Given the description of an element on the screen output the (x, y) to click on. 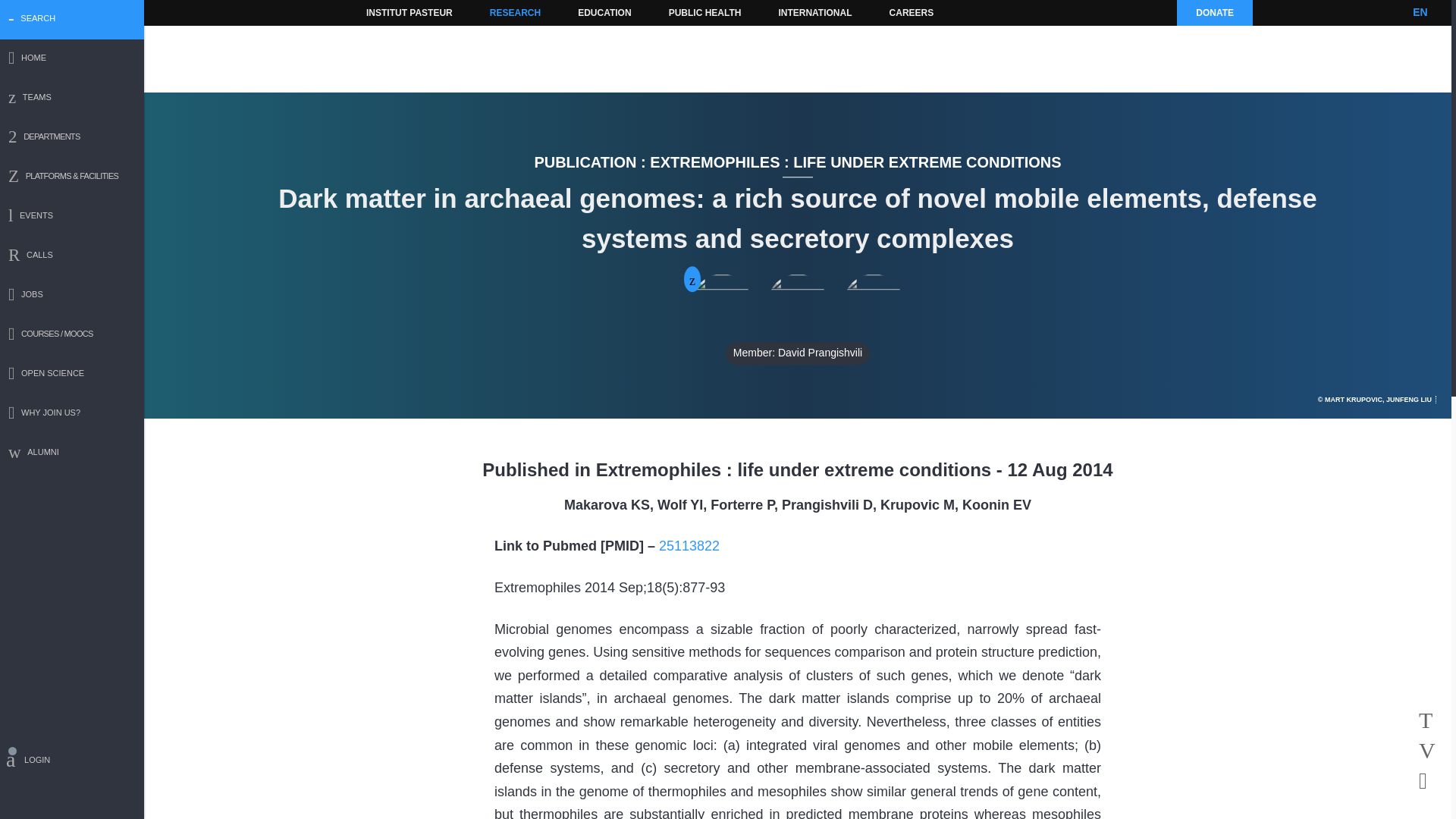
DONATE (1214, 12)
CALLS (72, 256)
PUBLIC HEALTH (705, 12)
LOGIN (72, 762)
INSTITUT PASTEUR (409, 12)
RESEARCH (515, 12)
JOBS (72, 296)
Skip to content (387, 11)
TEAMS (72, 98)
EDUCATION (603, 12)
